Given the description of an element on the screen output the (x, y) to click on. 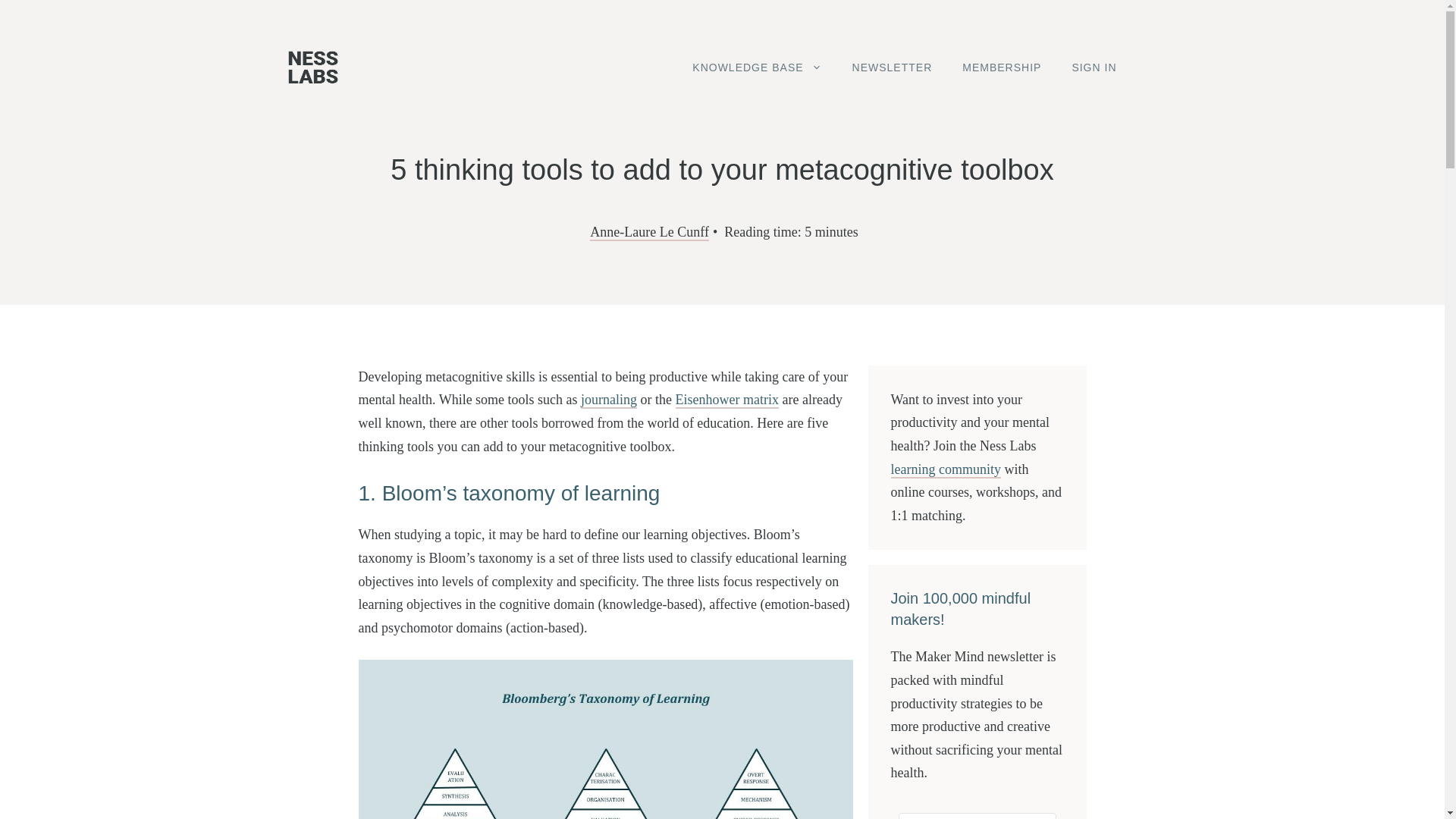
MEMBERSHIP (1002, 67)
Anne-Laure Le Cunff (649, 232)
Eisenhower matrix (726, 400)
learning community (944, 469)
KNOWLEDGE BASE (756, 67)
NEWSLETTER (892, 67)
journaling (608, 400)
SIGN IN (1094, 67)
